Given the description of an element on the screen output the (x, y) to click on. 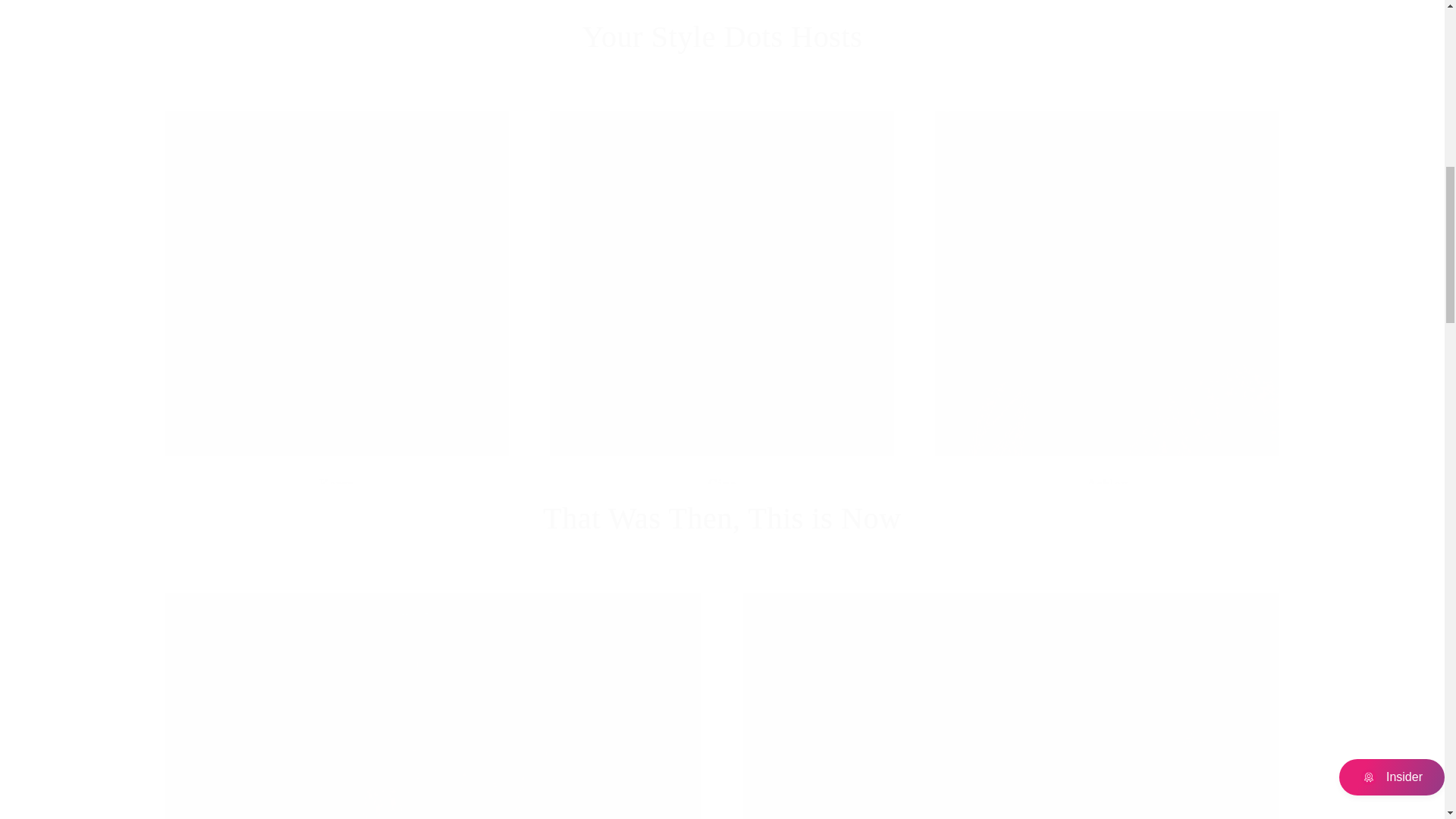
That Was Then, This is Now (721, 518)
0 (432, 705)
Your Style Dots Hosts (1010, 705)
Gina (721, 36)
